Given the description of an element on the screen output the (x, y) to click on. 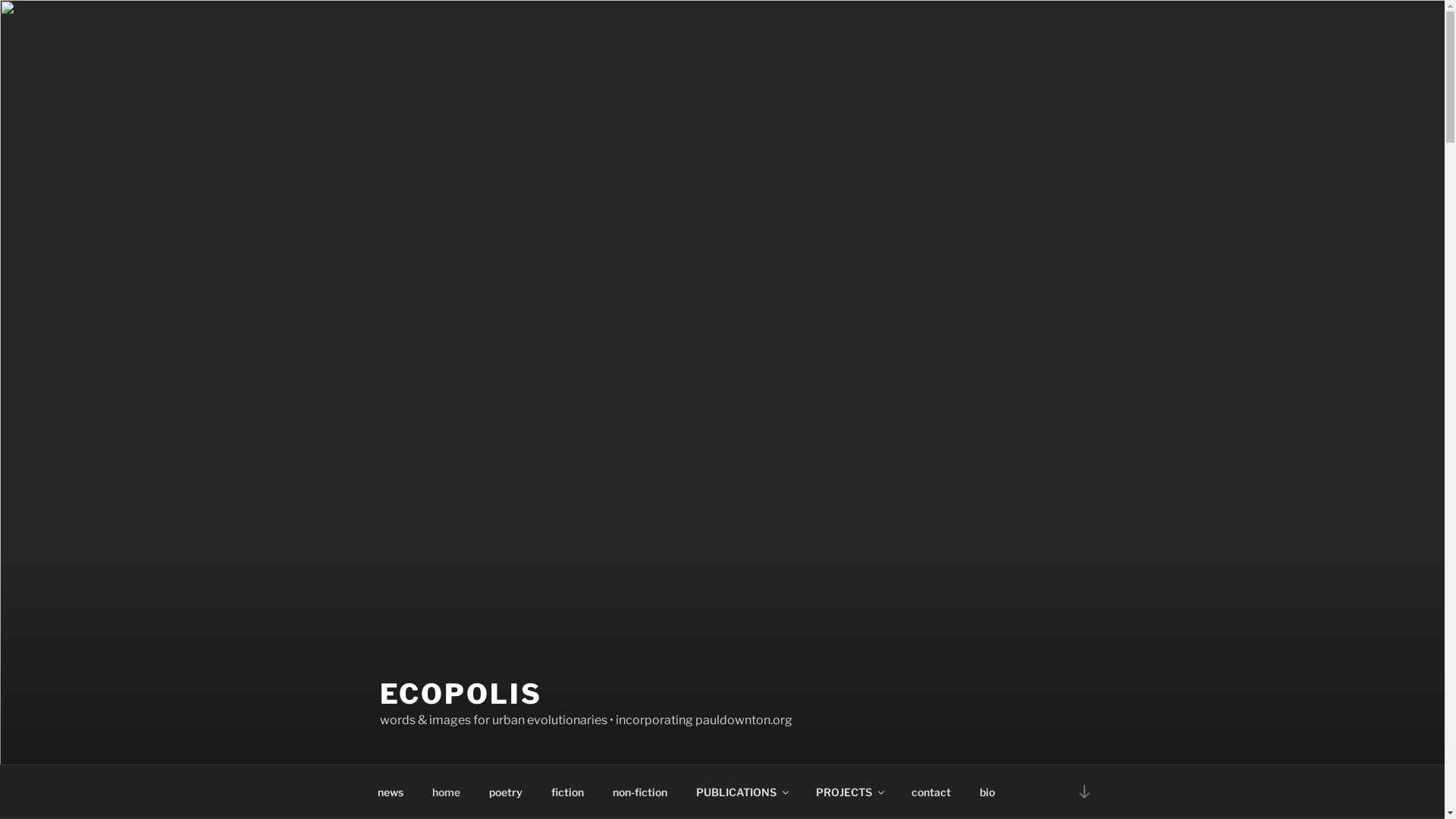
bio Element type: text (986, 791)
PUBLICATIONS Element type: text (741, 791)
Scroll down to content Element type: text (1083, 790)
PROJECTS Element type: text (848, 791)
fiction Element type: text (567, 791)
contact Element type: text (930, 791)
ECOPOLIS Element type: text (460, 693)
news Element type: text (390, 791)
non-fiction Element type: text (639, 791)
poetry Element type: text (506, 791)
home Element type: text (445, 791)
